Given the description of an element on the screen output the (x, y) to click on. 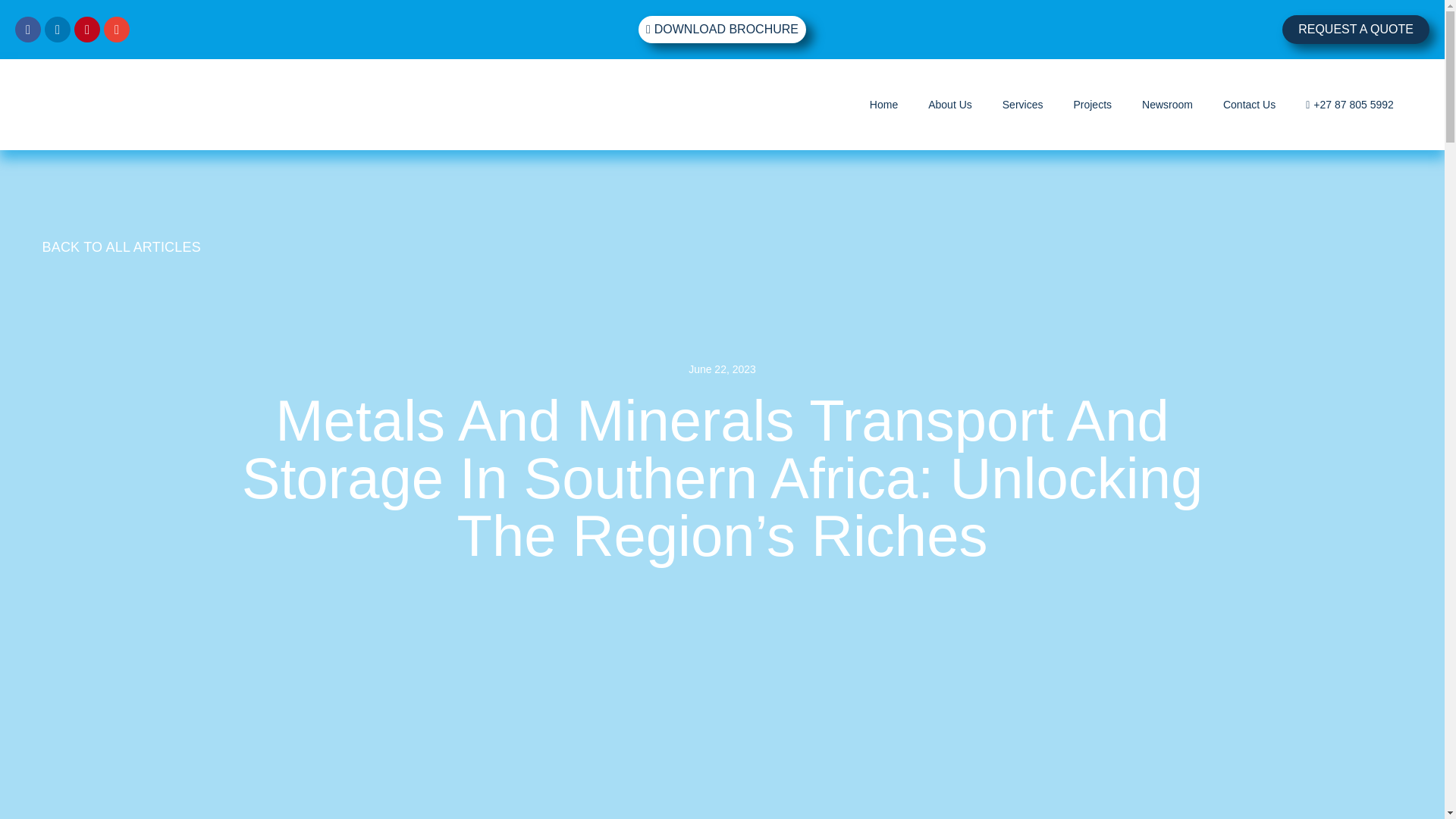
Projects (1092, 104)
Services (1023, 104)
DOWNLOAD BROCHURE (722, 29)
BACK TO ALL ARTICLES (121, 246)
About Us (950, 104)
Contact Us (1249, 104)
REQUEST A QUOTE (1355, 29)
Newsroom (1166, 104)
Home (883, 104)
